Given the description of an element on the screen output the (x, y) to click on. 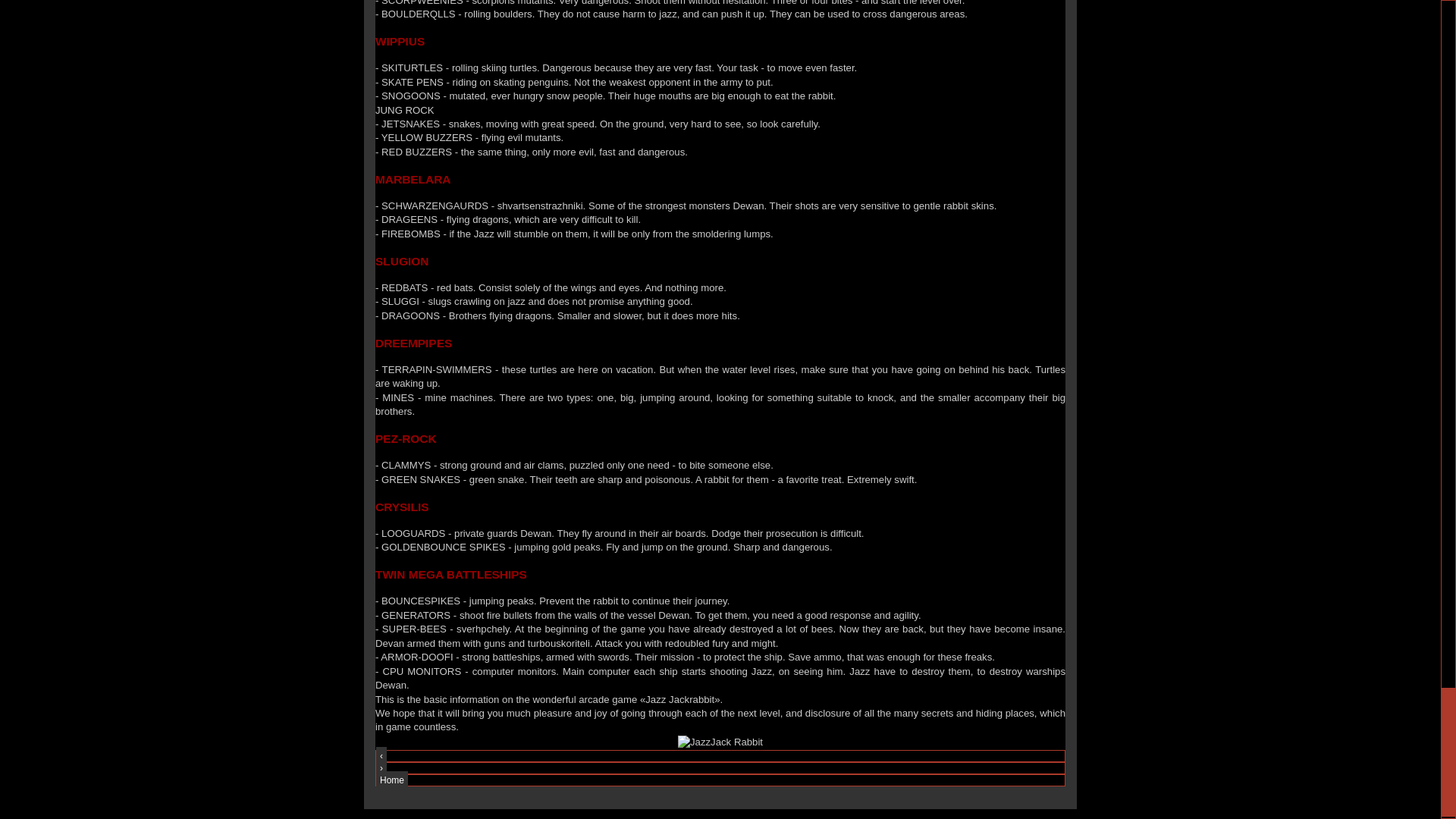
Older Post (381, 768)
JazzJack Rabbit cheats (719, 742)
Newer Post (381, 755)
Home (391, 780)
